Given the description of an element on the screen output the (x, y) to click on. 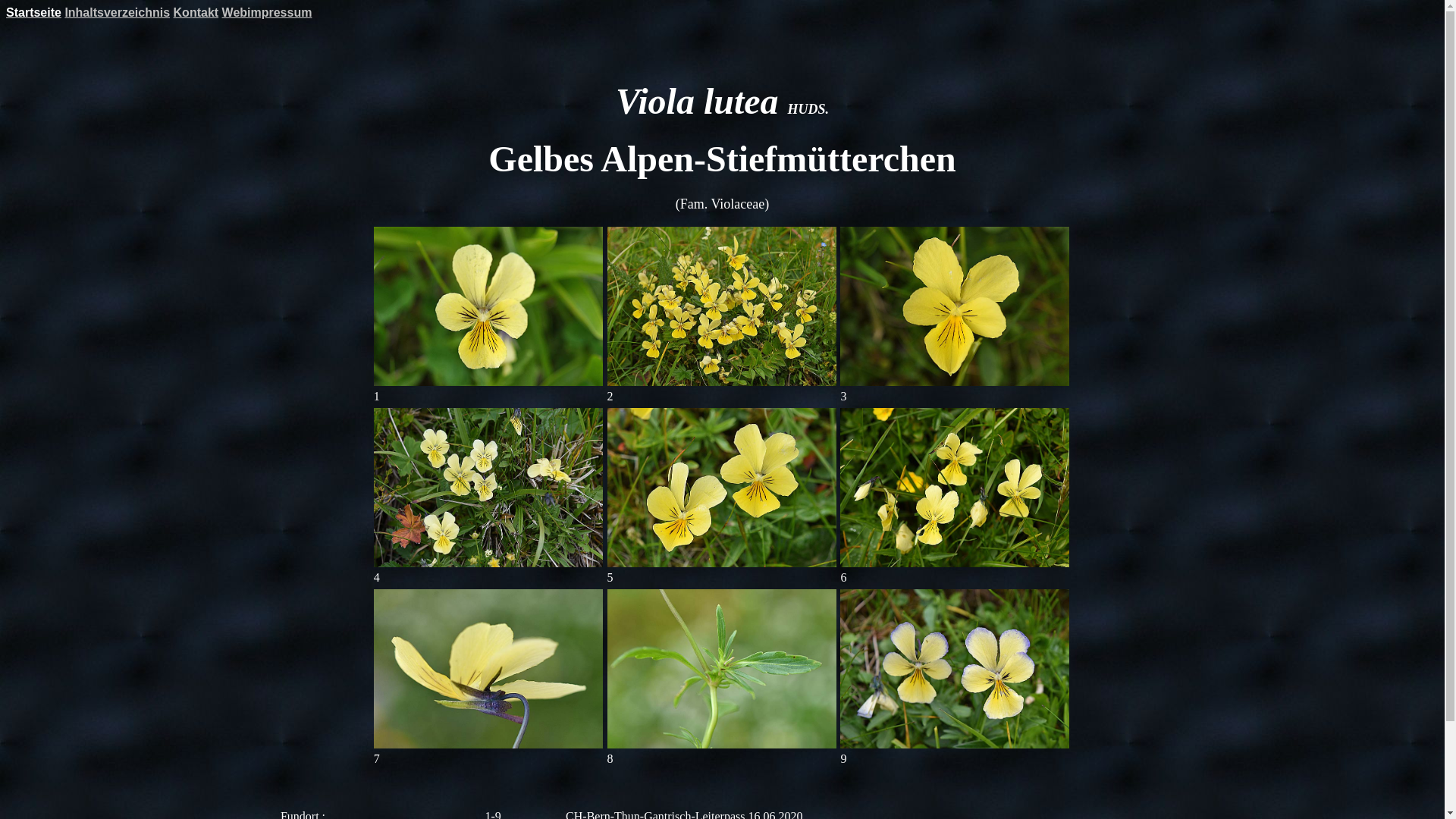
Webimpressum Element type: text (267, 12)
Startseite Element type: text (33, 12)
Kontakt Element type: text (196, 12)
Inhaltsverzeichnis Element type: text (116, 12)
